Given the description of an element on the screen output the (x, y) to click on. 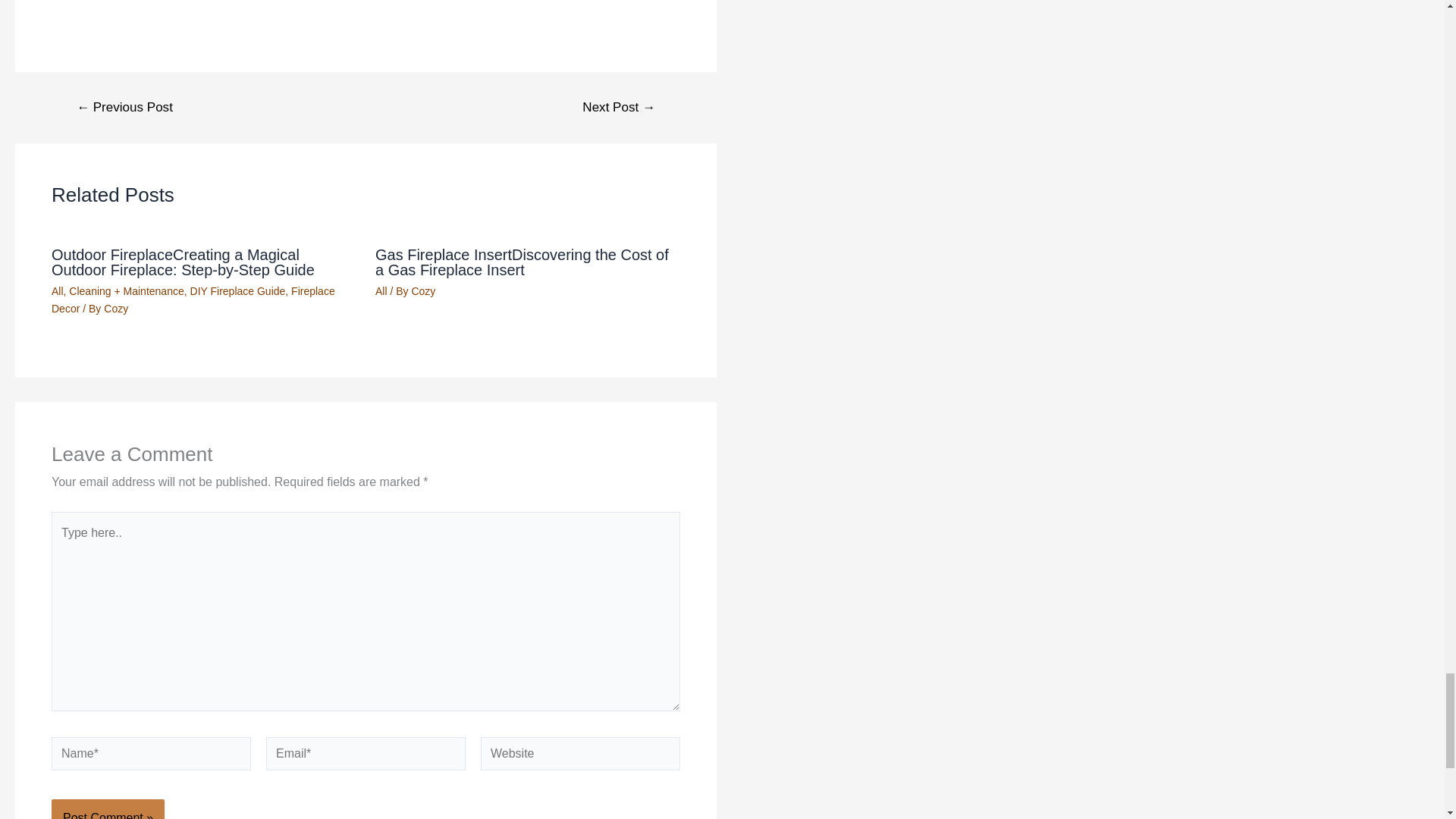
View all posts by Cozy (115, 308)
Fireplace Decor (192, 299)
View all posts by Cozy (422, 291)
All (57, 291)
Cozy (422, 291)
DIY Fireplace Guide (237, 291)
Cozy (115, 308)
All (381, 291)
